Given the description of an element on the screen output the (x, y) to click on. 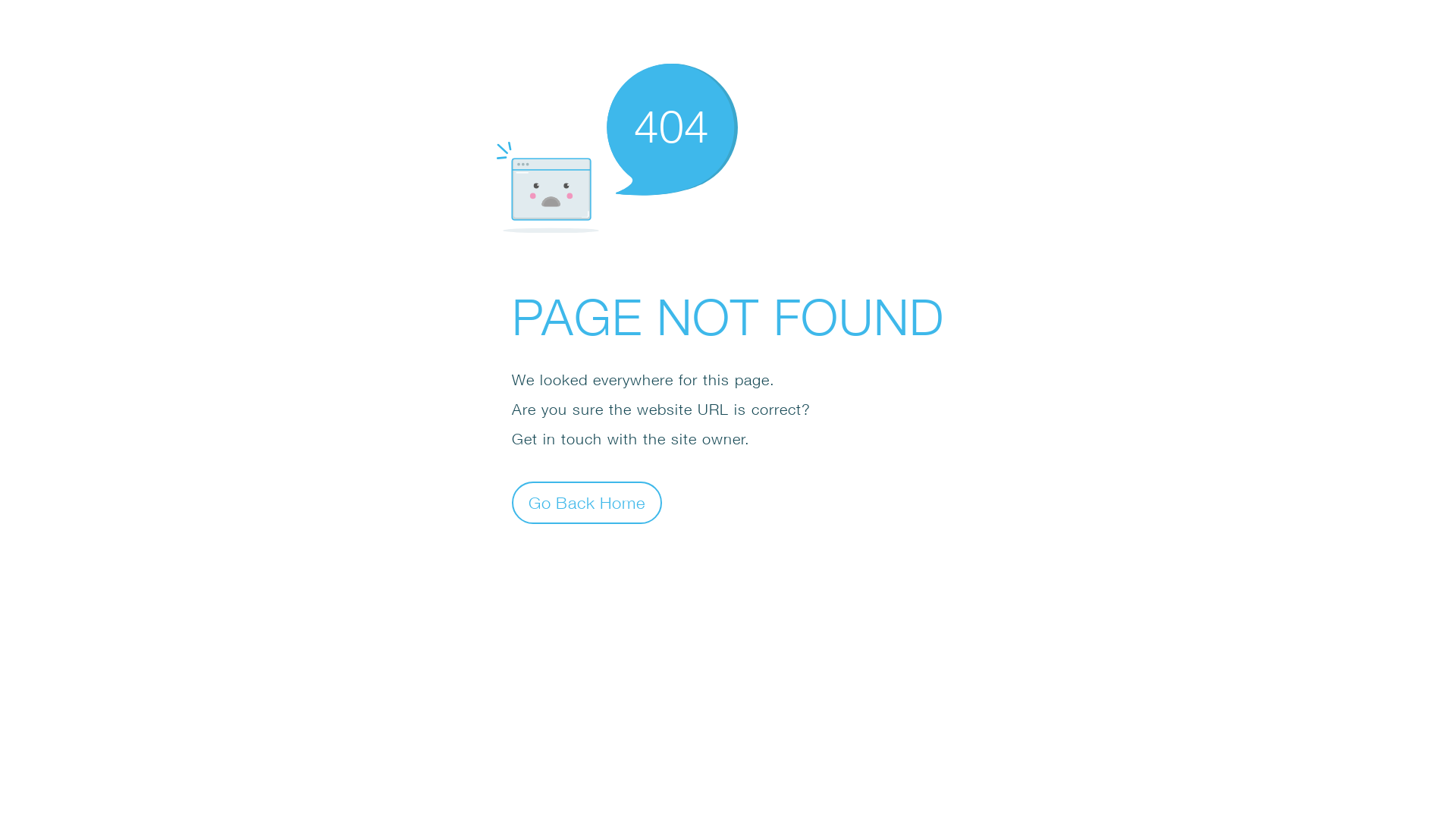
Go Back Home Element type: text (586, 502)
